Given the description of an element on the screen output the (x, y) to click on. 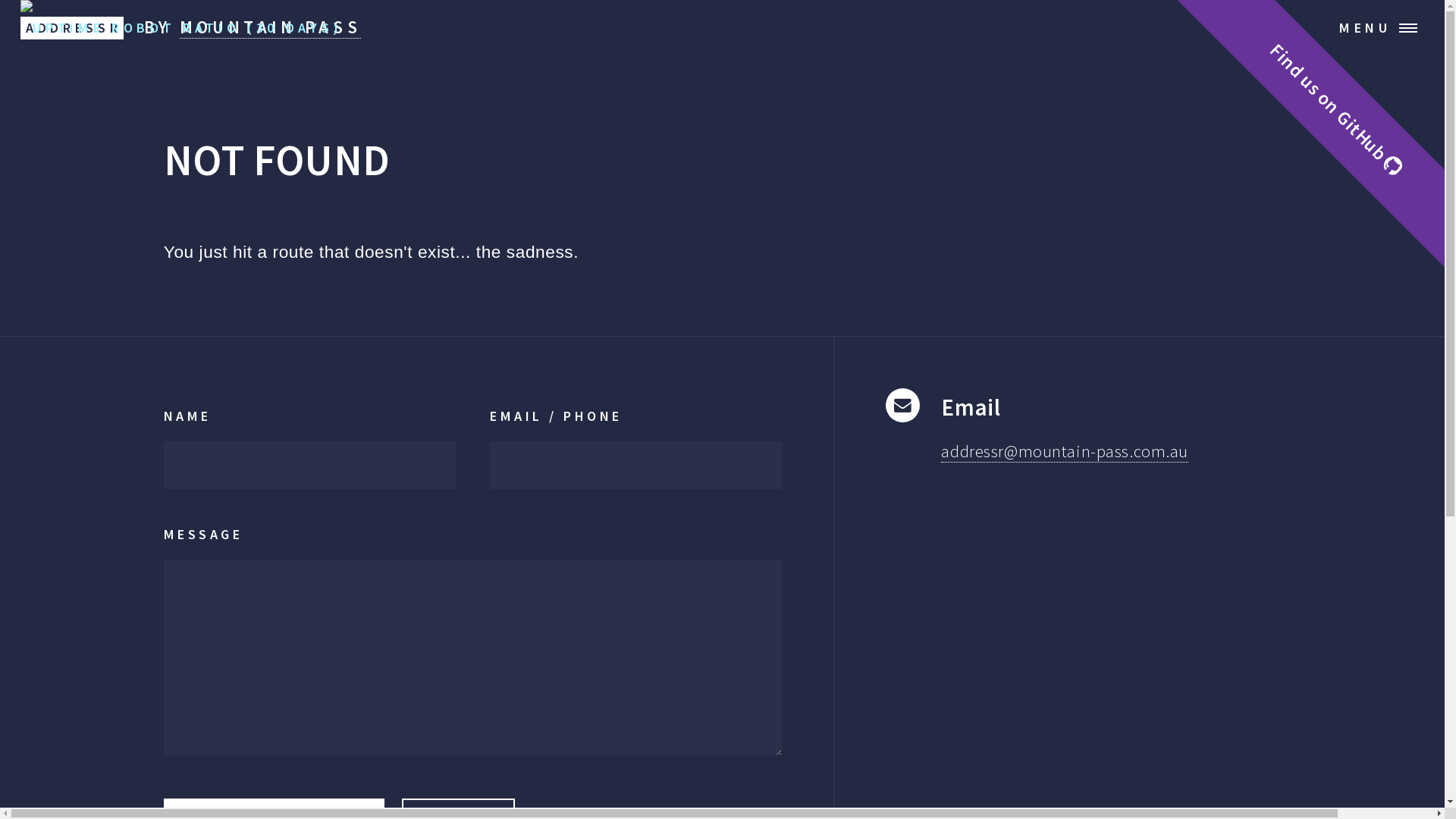
MENU Element type: text (1386, 28)
Find us on GitHub Element type: text (1353, 49)
MOUNTAIN PASS Element type: text (270, 27)
ADDRESSR Element type: text (72, 28)
addressr@mountain-pass.com.au Element type: text (1064, 451)
